Given the description of an element on the screen output the (x, y) to click on. 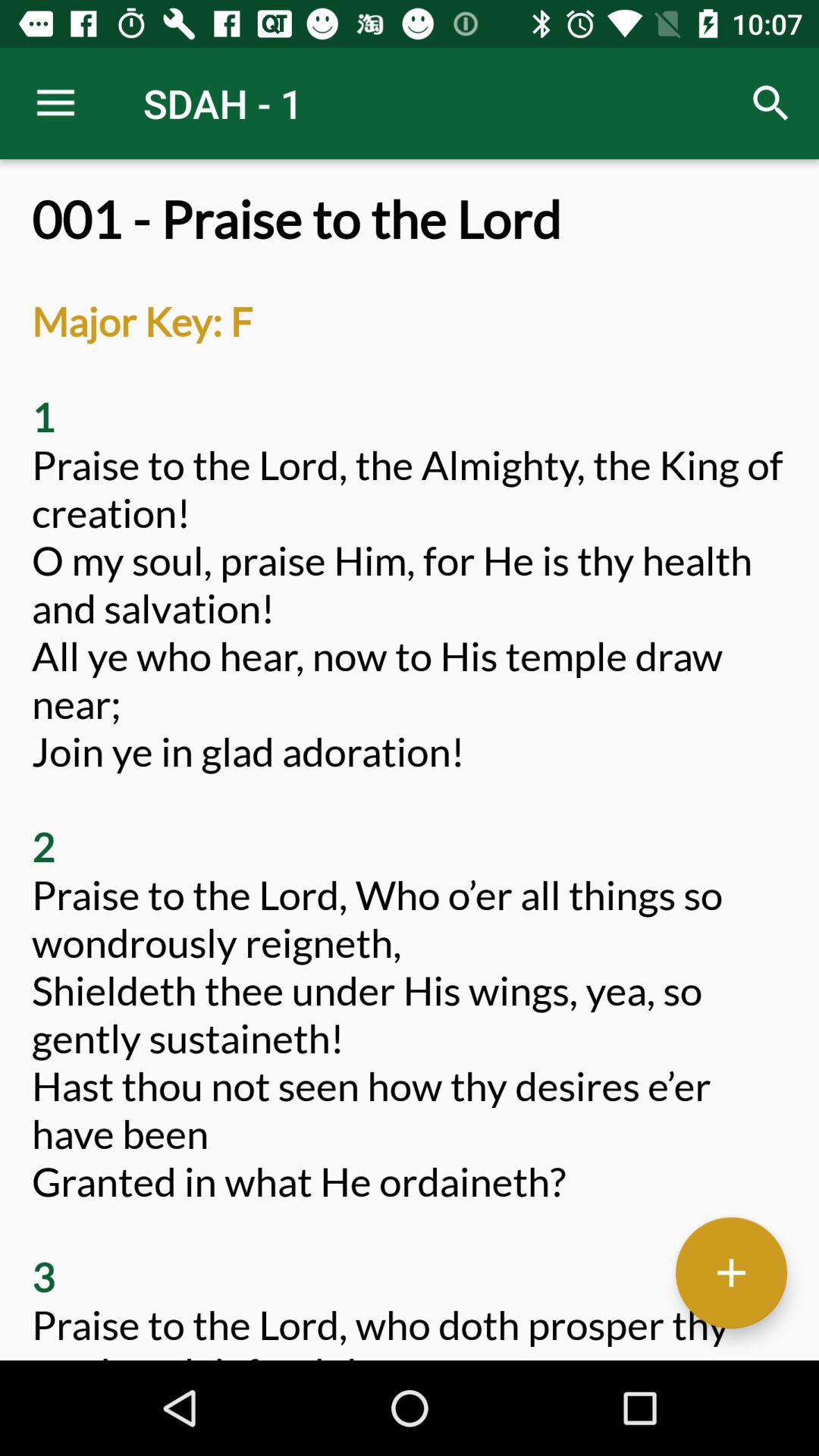
add text (731, 1272)
